Given the description of an element on the screen output the (x, y) to click on. 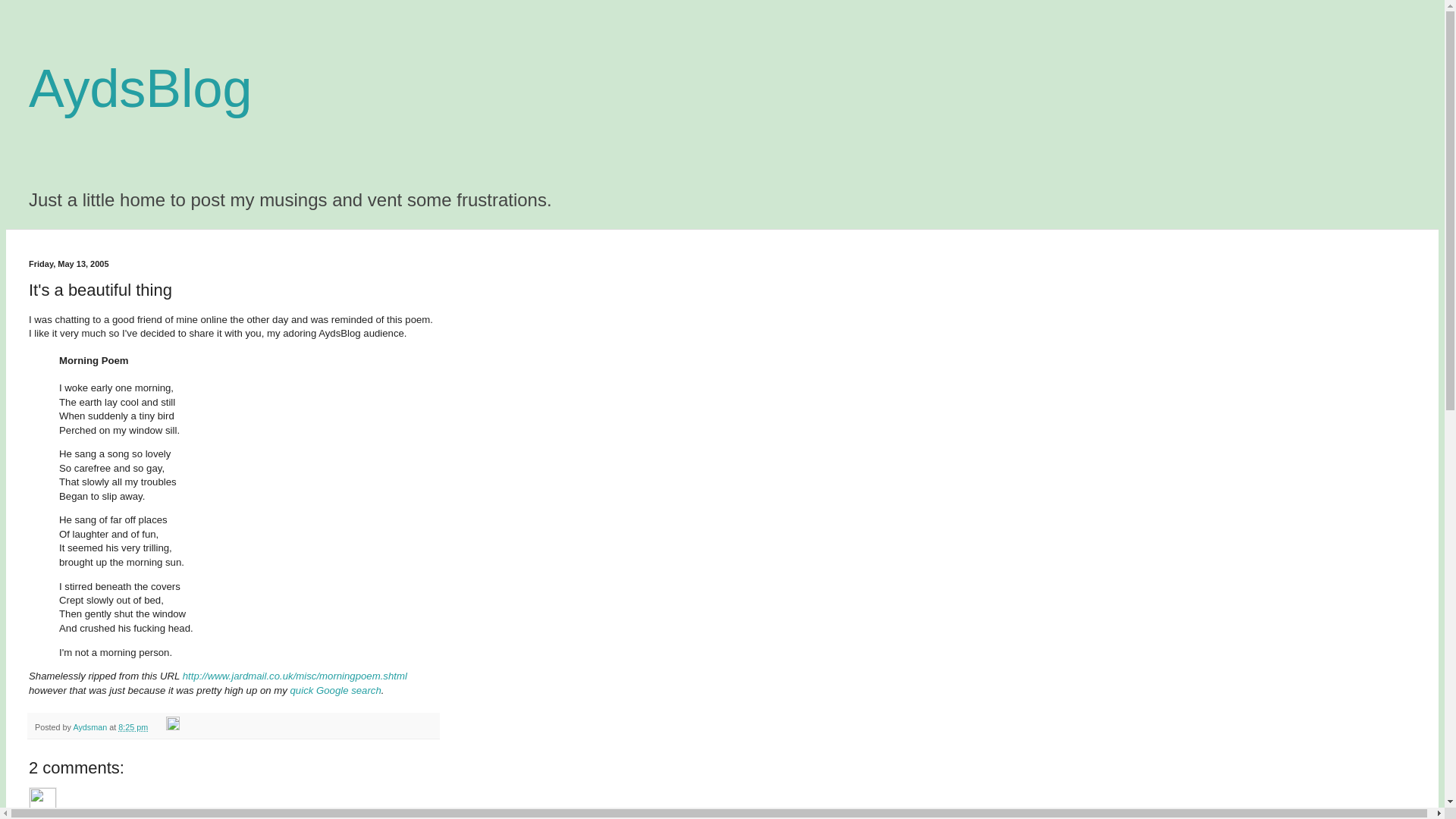
Email Post Element type: hover (158, 726)
quick Google search Element type: text (335, 690)
Anonymous Element type: hover (42, 801)
8:25 pm Element type: text (132, 726)
Edit Post Element type: hover (172, 726)
http://www.jardmail.co.uk/misc/morningpoem.shtml Element type: text (294, 675)
AydsBlog Element type: text (139, 88)
Aydsman Element type: text (90, 726)
